Given the description of an element on the screen output the (x, y) to click on. 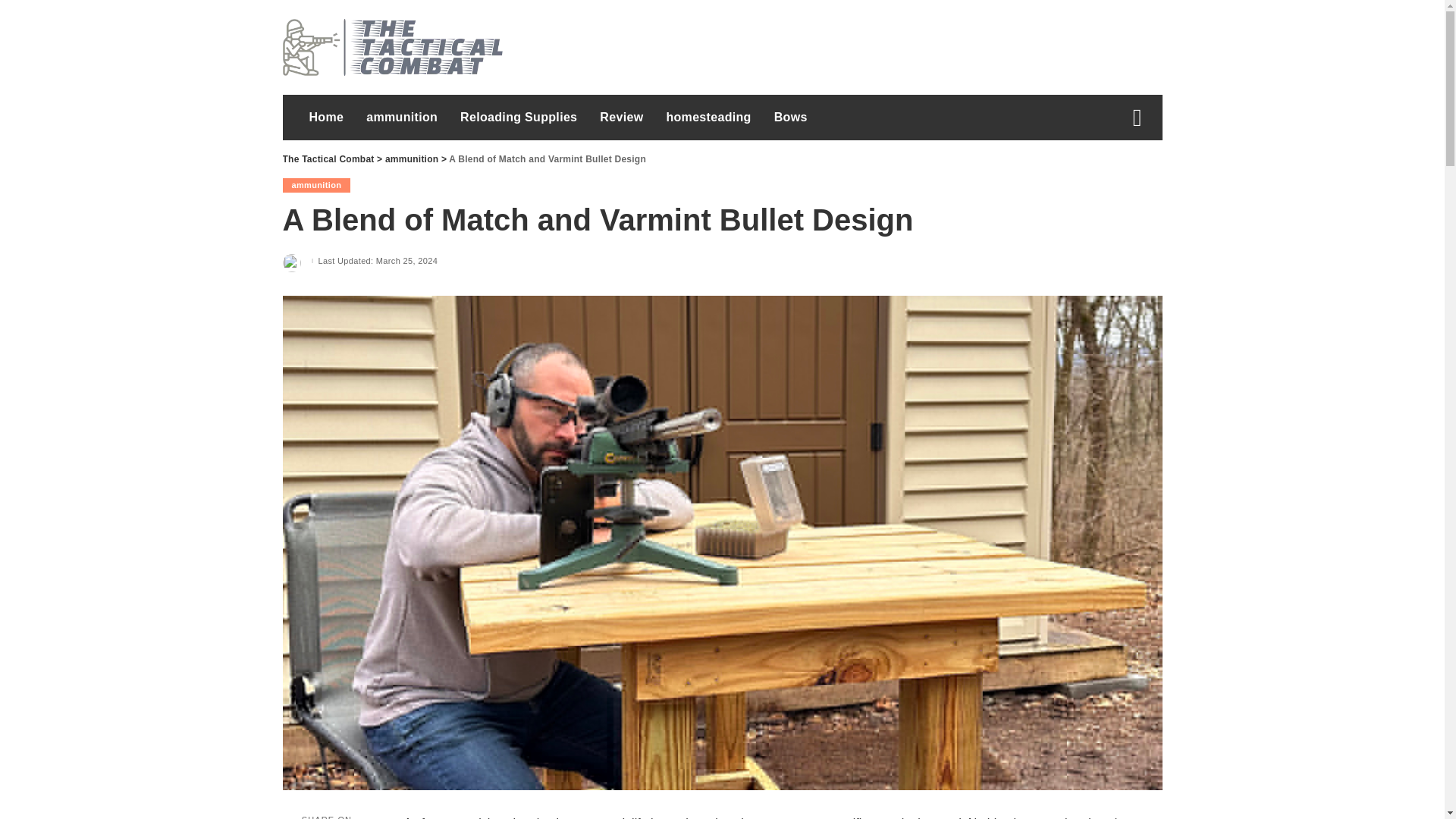
Search (1125, 172)
ammunition (316, 185)
ammunition (411, 158)
The Tactical Combat (392, 47)
homesteading (707, 117)
Bows (790, 117)
Review (620, 117)
Go to the ammunition Category archives. (411, 158)
ammunition (401, 117)
Go to The Tactical Combat. (328, 158)
Reloading Supplies (518, 117)
The Tactical Combat (328, 158)
Home (326, 117)
